Given the description of an element on the screen output the (x, y) to click on. 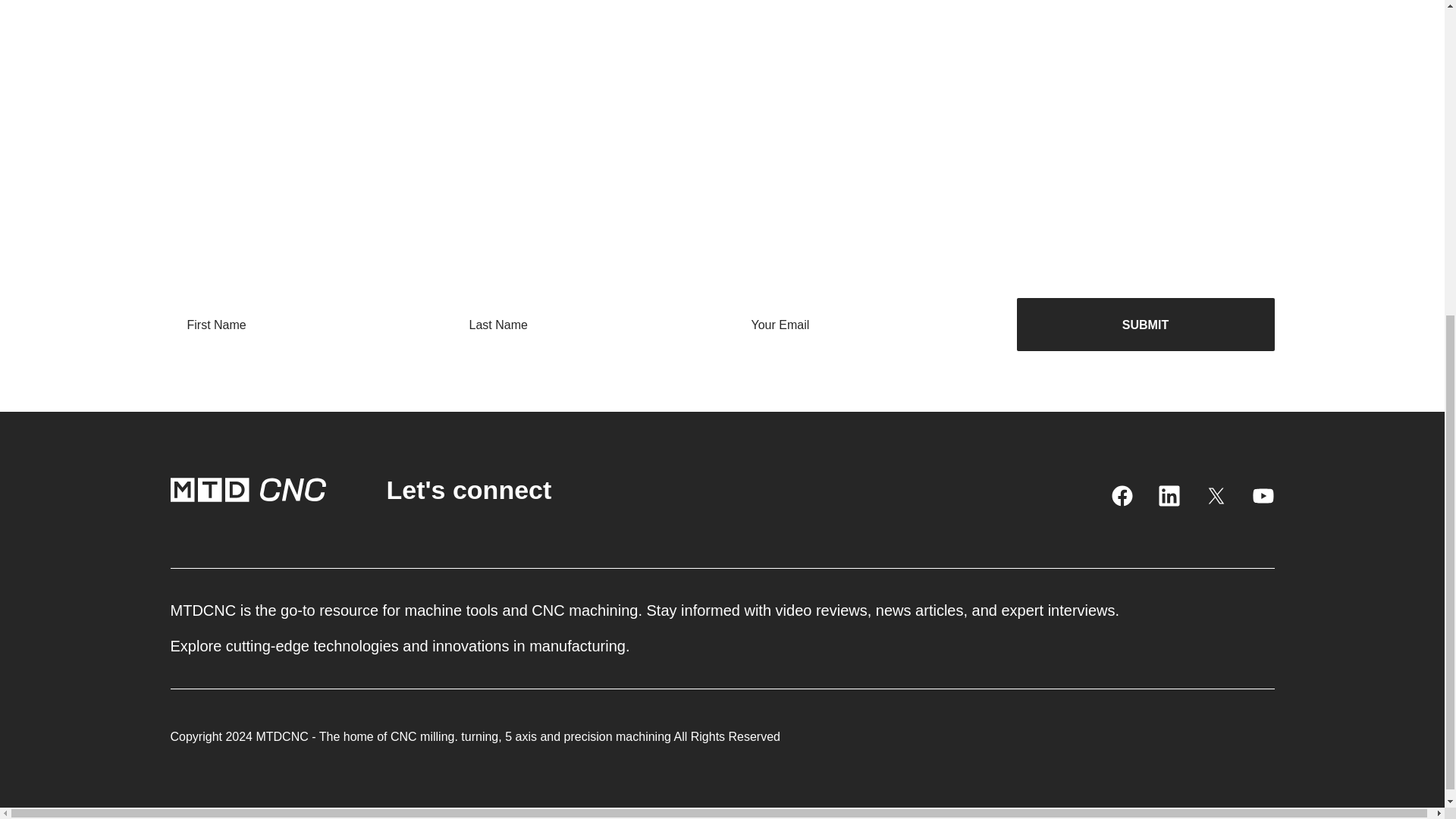
Go to YouTube (1262, 495)
SUBMIT (1145, 324)
Go to LinkedIn (1168, 495)
Go to X (1215, 495)
Home (247, 489)
Go to Facebook (1120, 495)
